Given the description of an element on the screen output the (x, y) to click on. 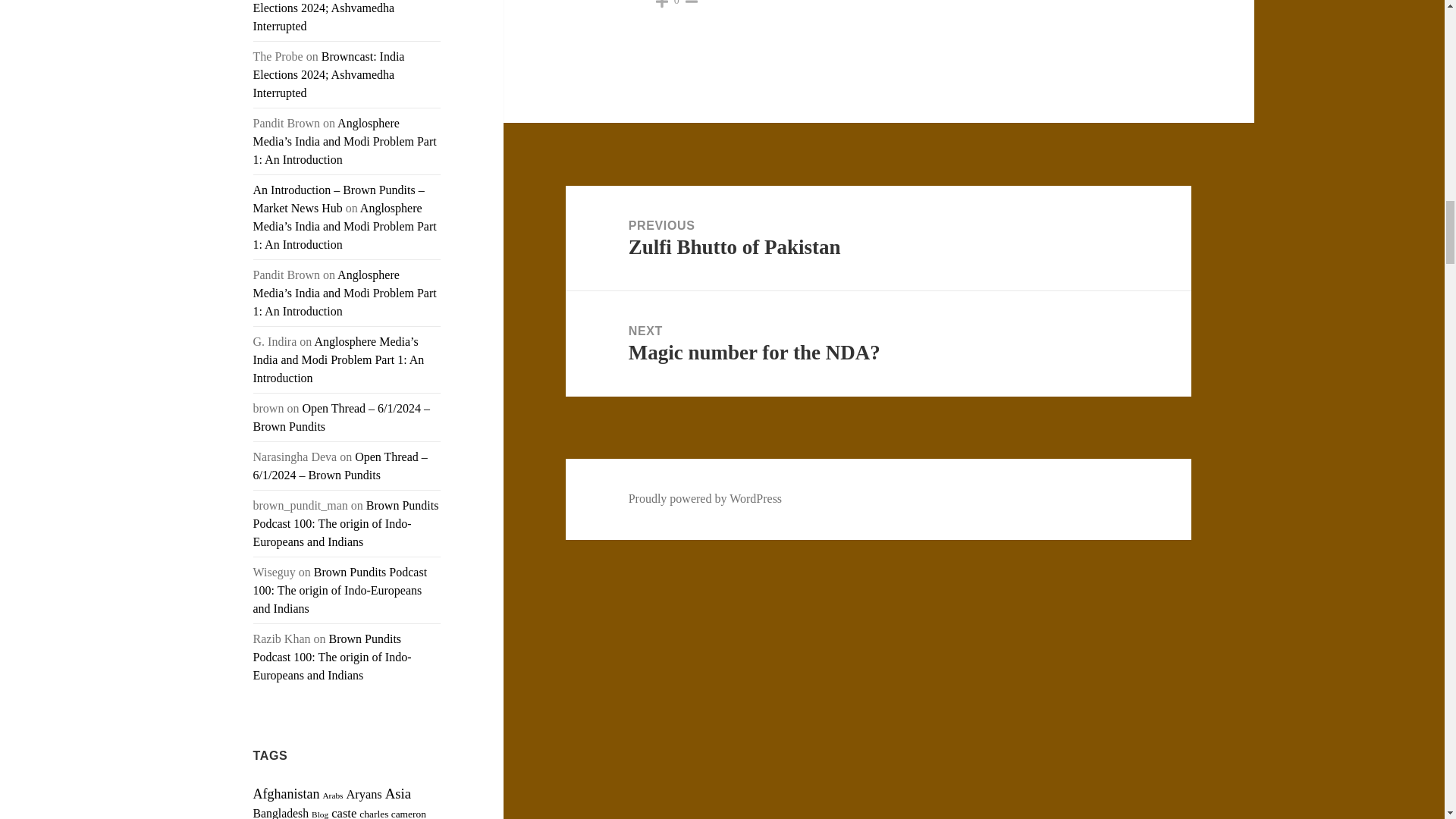
0 (676, 3)
